Given the description of an element on the screen output the (x, y) to click on. 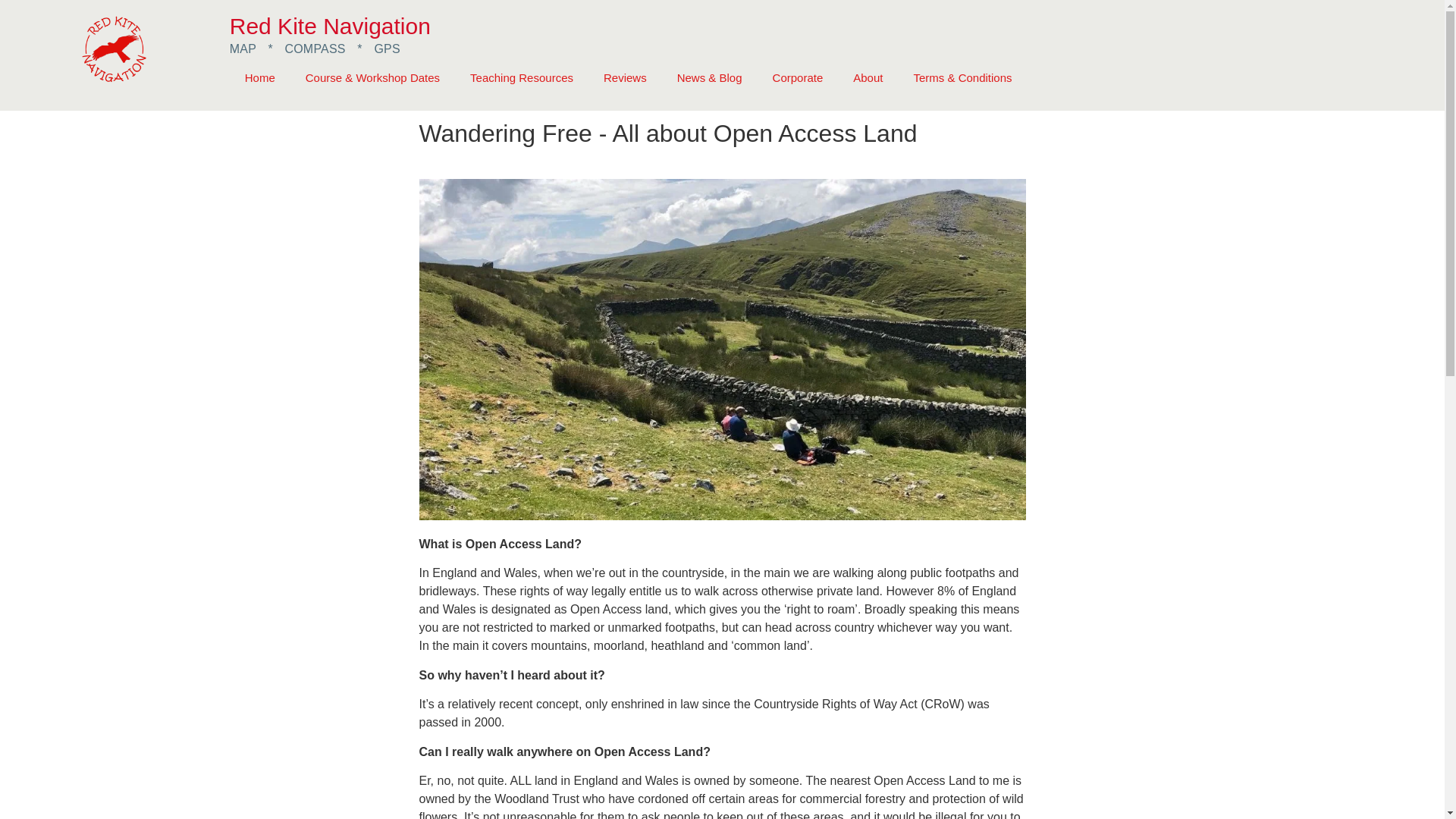
Red Kite Navigation (330, 25)
Teaching Resources (521, 77)
About (868, 77)
Home (259, 77)
Reviews (625, 77)
Corporate (797, 77)
